Given the description of an element on the screen output the (x, y) to click on. 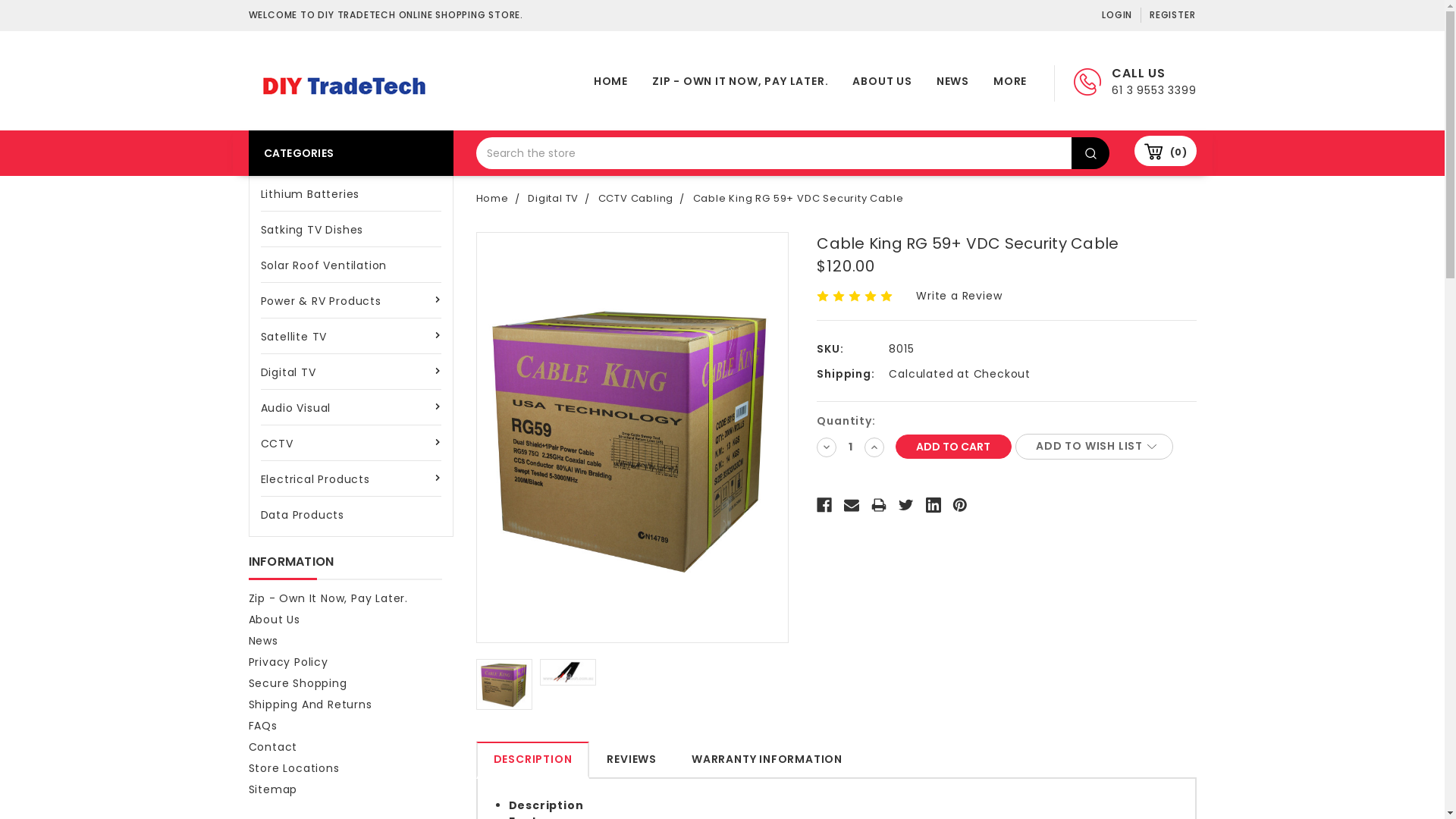
WARRANTY INFORMATION Element type: text (766, 759)
Home Element type: text (492, 198)
Secure Shopping Element type: text (297, 682)
Description Element type: text (545, 804)
Lithium Batteries Element type: text (350, 193)
Audio Visual Element type: text (350, 407)
Add to Cart Element type: text (953, 446)
Solar Roof Ventilation Element type: text (350, 264)
ZIP - OWN IT NOW, PAY LATER. Element type: text (740, 83)
ABOUT US Element type: text (881, 83)
ADD TO WISH LIST Element type: text (1094, 446)
Cable King RG 59+ VDC Security Cable Element type: hover (567, 672)
News Element type: text (263, 640)
FAQs Element type: text (262, 725)
HOME Element type: text (610, 83)
About Us Element type: text (274, 619)
INCREASE QUANTITY: Element type: text (874, 447)
CCTV Cabling Element type: text (636, 198)
Zip - Own It Now, Pay Later. Element type: text (327, 597)
REGISTER Element type: text (1167, 14)
Digital TV Element type: text (552, 198)
MORE Element type: text (1009, 83)
Digital TV Element type: text (350, 371)
Electrical Products Element type: text (350, 478)
Cable King RG 59+ VDC Security Cable Element type: hover (631, 436)
0 Element type: text (1165, 150)
Contact Element type: text (273, 746)
LOGIN Element type: text (1116, 14)
Satking TV Dishes Element type: text (350, 229)
61 3 9553 3399 Element type: text (1153, 89)
Power & RV Products Element type: text (350, 300)
Privacy Policy Element type: text (288, 661)
Search Element type: text (1090, 153)
Sitemap Element type: text (273, 789)
Satellite TV Element type: text (350, 336)
DIY TradeTech Element type: hover (343, 85)
DESCRIPTION Element type: text (532, 759)
Data Products Element type: text (350, 513)
Cable King RG 59+ VDC Security Cable Element type: hover (504, 684)
Store Locations Element type: text (293, 767)
Write a Review Element type: text (958, 295)
DECREASE QUANTITY: Element type: text (826, 447)
NEWS Element type: text (952, 83)
REVIEWS Element type: text (631, 759)
Shipping And Returns Element type: text (310, 704)
CCTV Element type: text (350, 443)
